Given the description of an element on the screen output the (x, y) to click on. 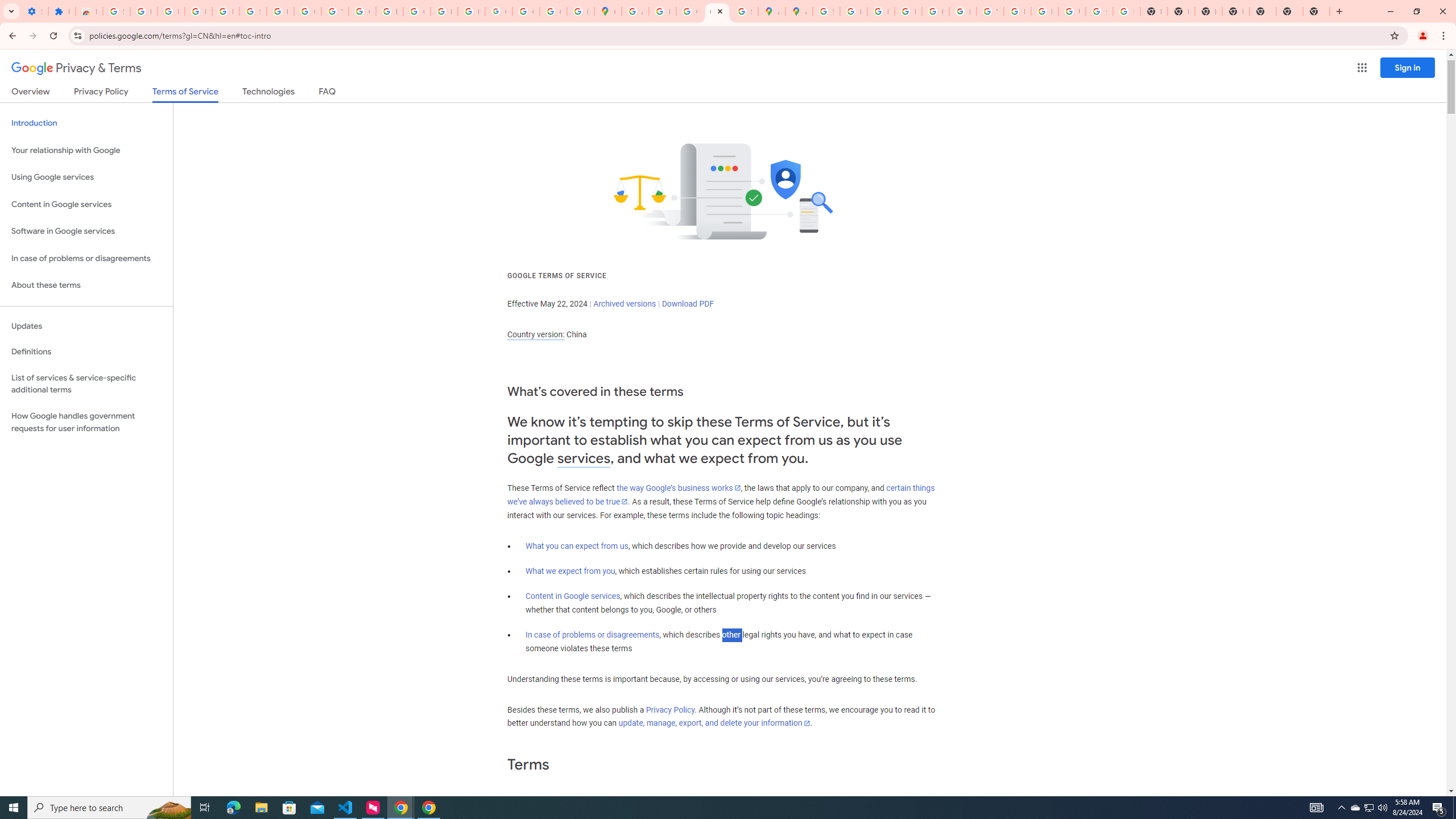
New Tab (1316, 11)
services (583, 458)
Using Google services (86, 176)
Your relationship with Google (86, 150)
Privacy & Terms (76, 68)
https://scholar.google.com/ (389, 11)
